Given the description of an element on the screen output the (x, y) to click on. 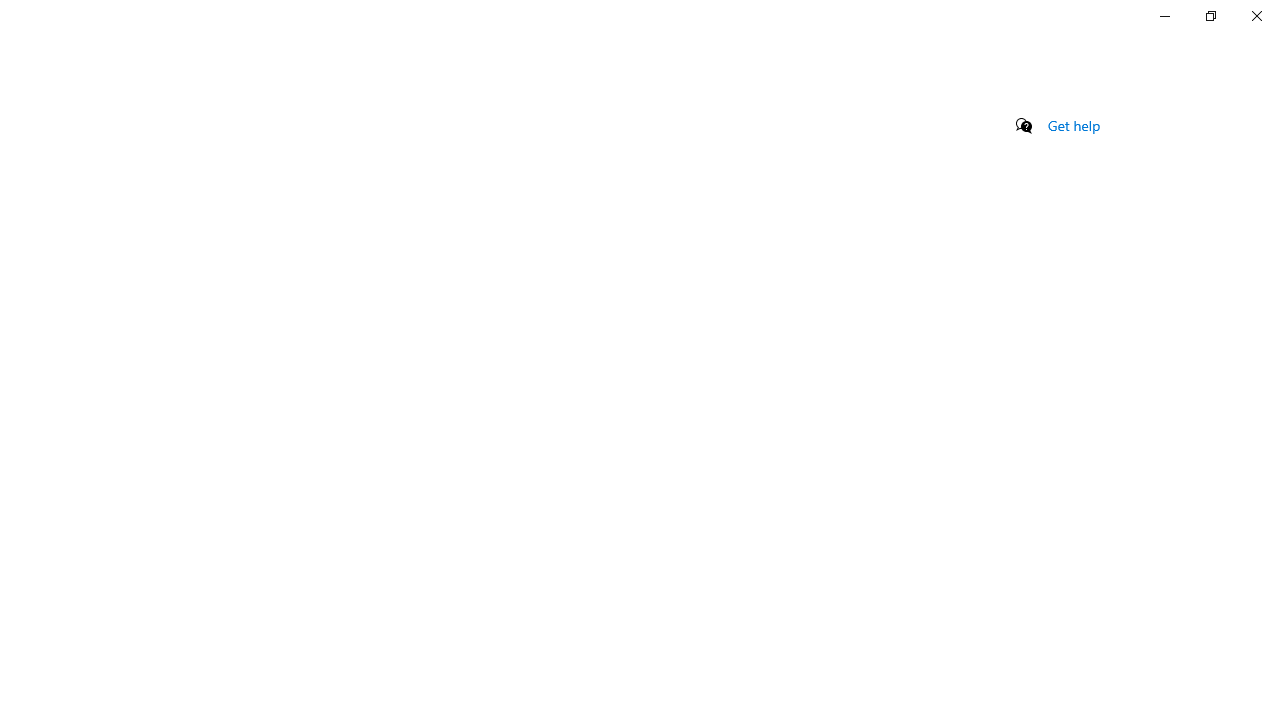
Close Settings (1256, 15)
Restore Settings (1210, 15)
Minimize Settings (1164, 15)
Get help (1074, 125)
